Given the description of an element on the screen output the (x, y) to click on. 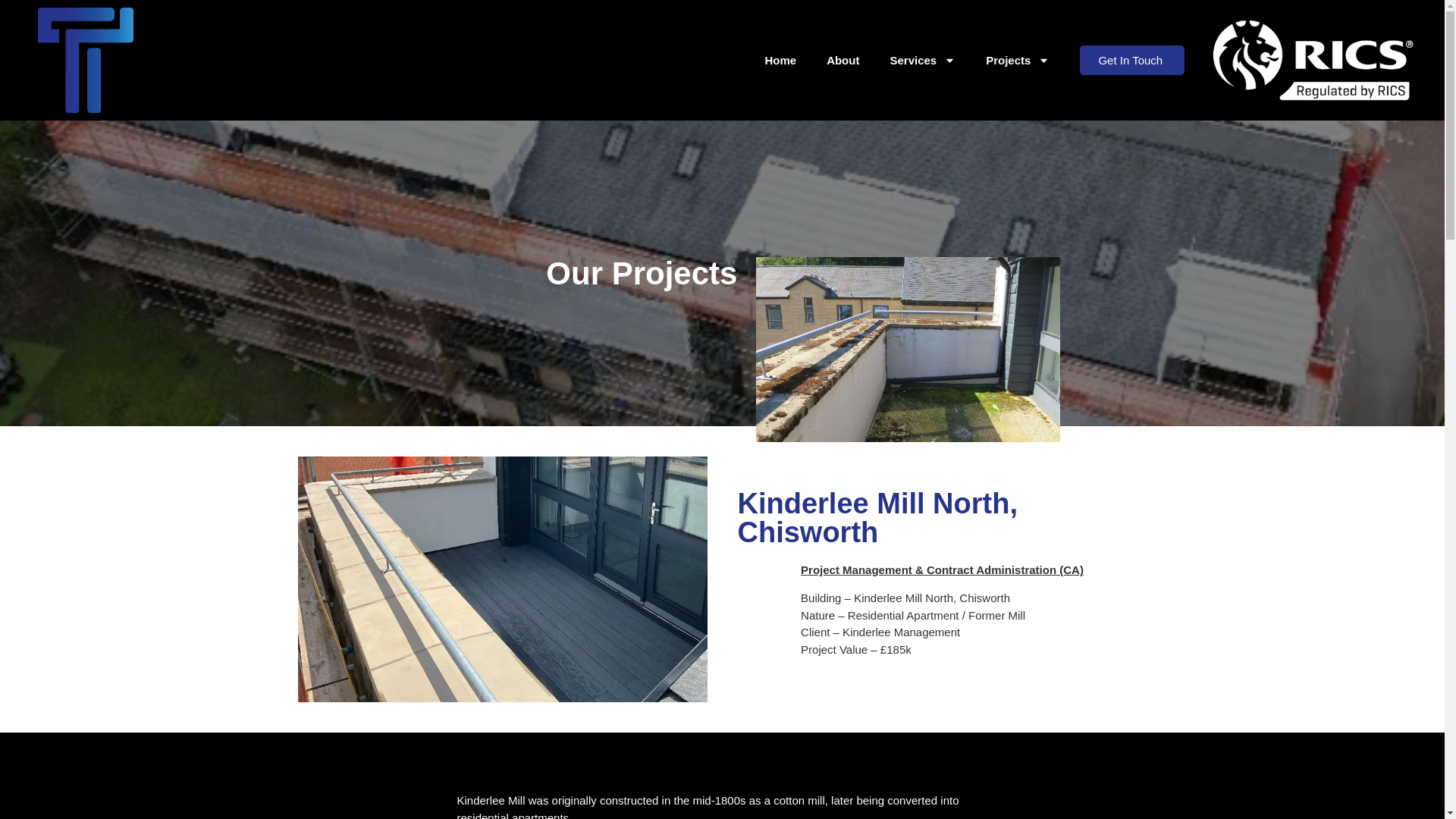
About (842, 60)
Home (779, 60)
Projects (1017, 60)
Services (923, 60)
